Given the description of an element on the screen output the (x, y) to click on. 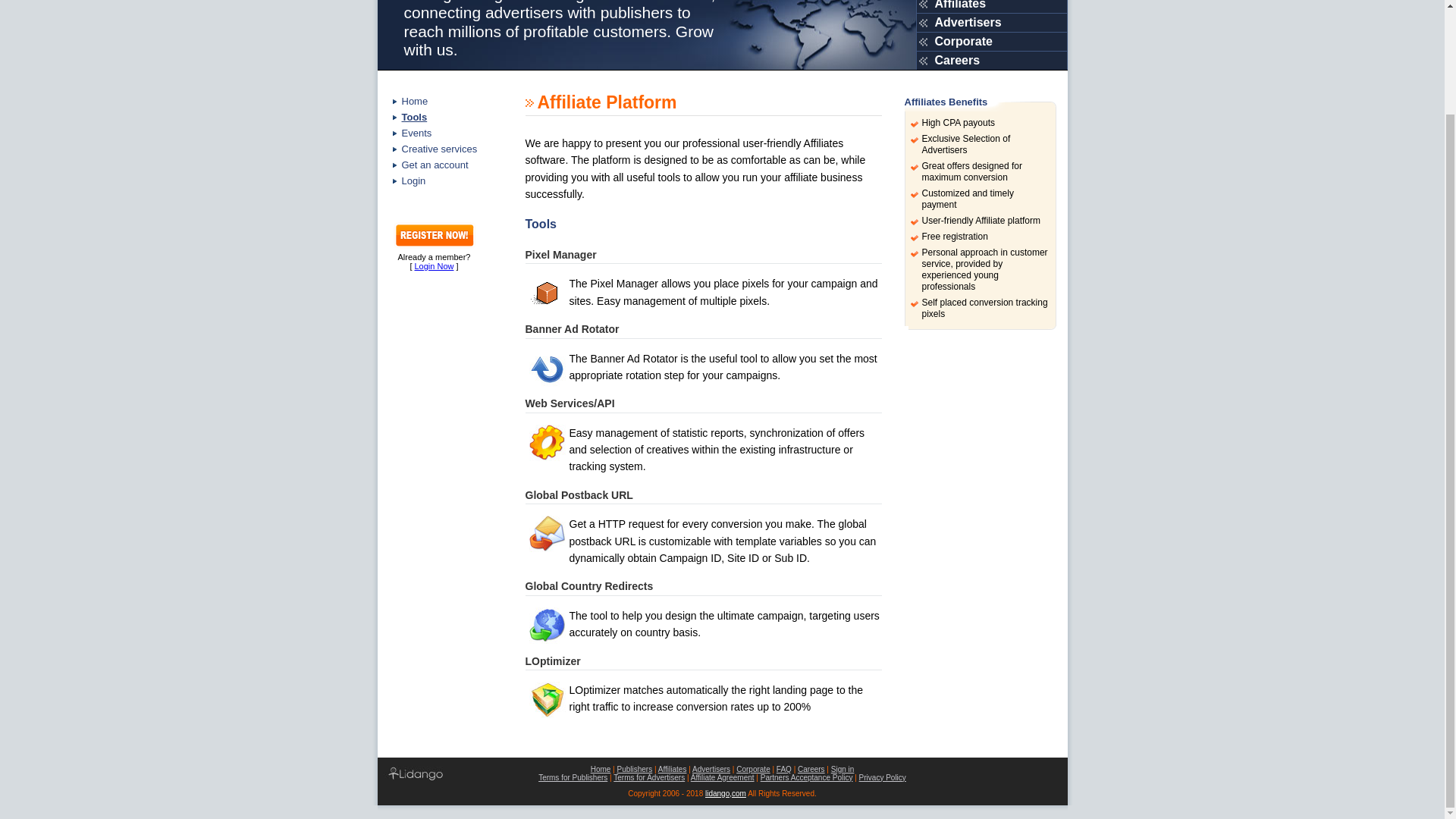
Sign in (842, 768)
Corporate (991, 40)
Affiliates (672, 768)
Get an account (446, 164)
Careers (811, 768)
Home (446, 100)
Home (601, 768)
Careers (991, 59)
Creative services (446, 148)
Login Now (432, 266)
